Given the description of an element on the screen output the (x, y) to click on. 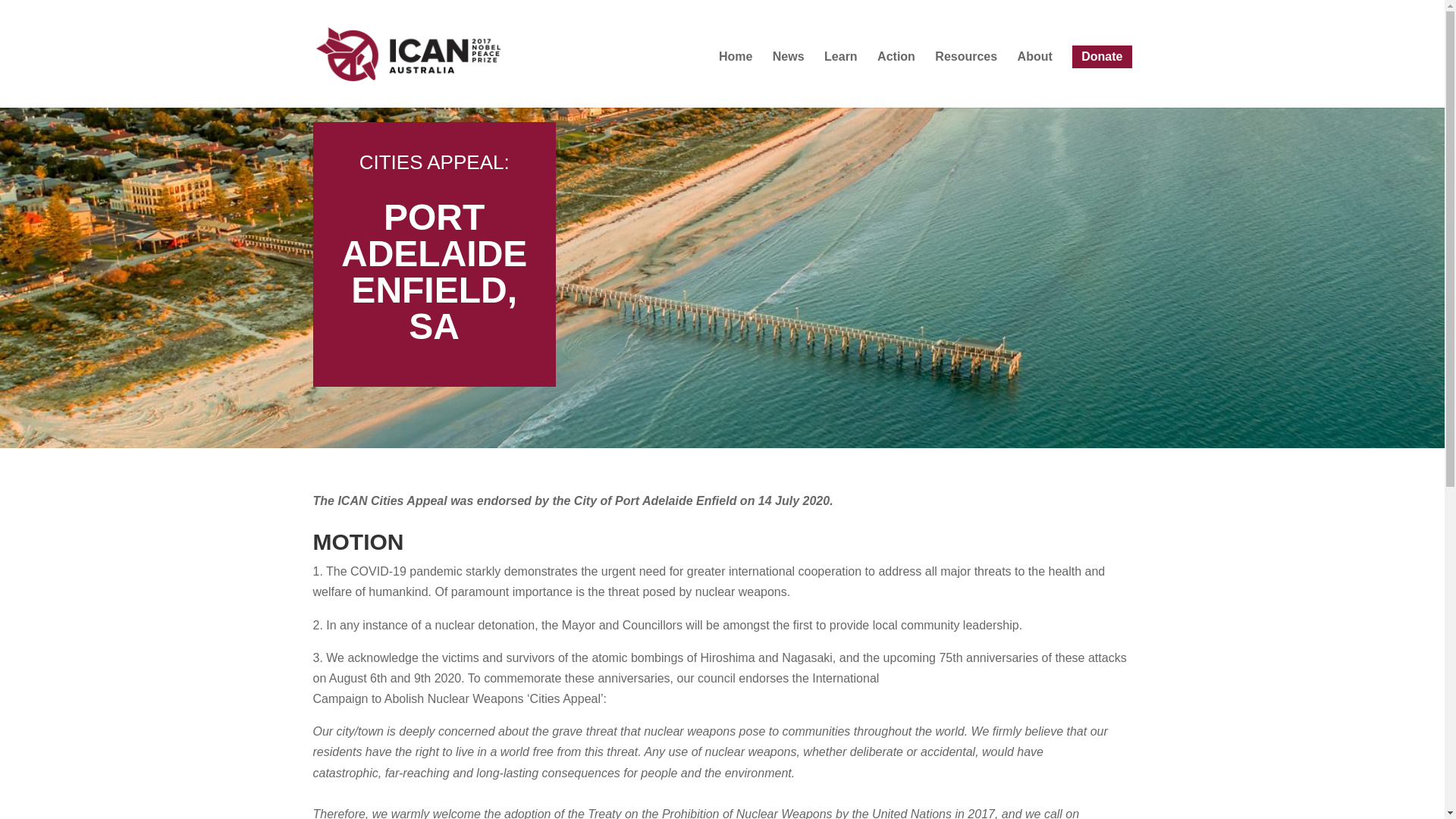
Donate (1101, 56)
Resources (965, 79)
